Given the description of an element on the screen output the (x, y) to click on. 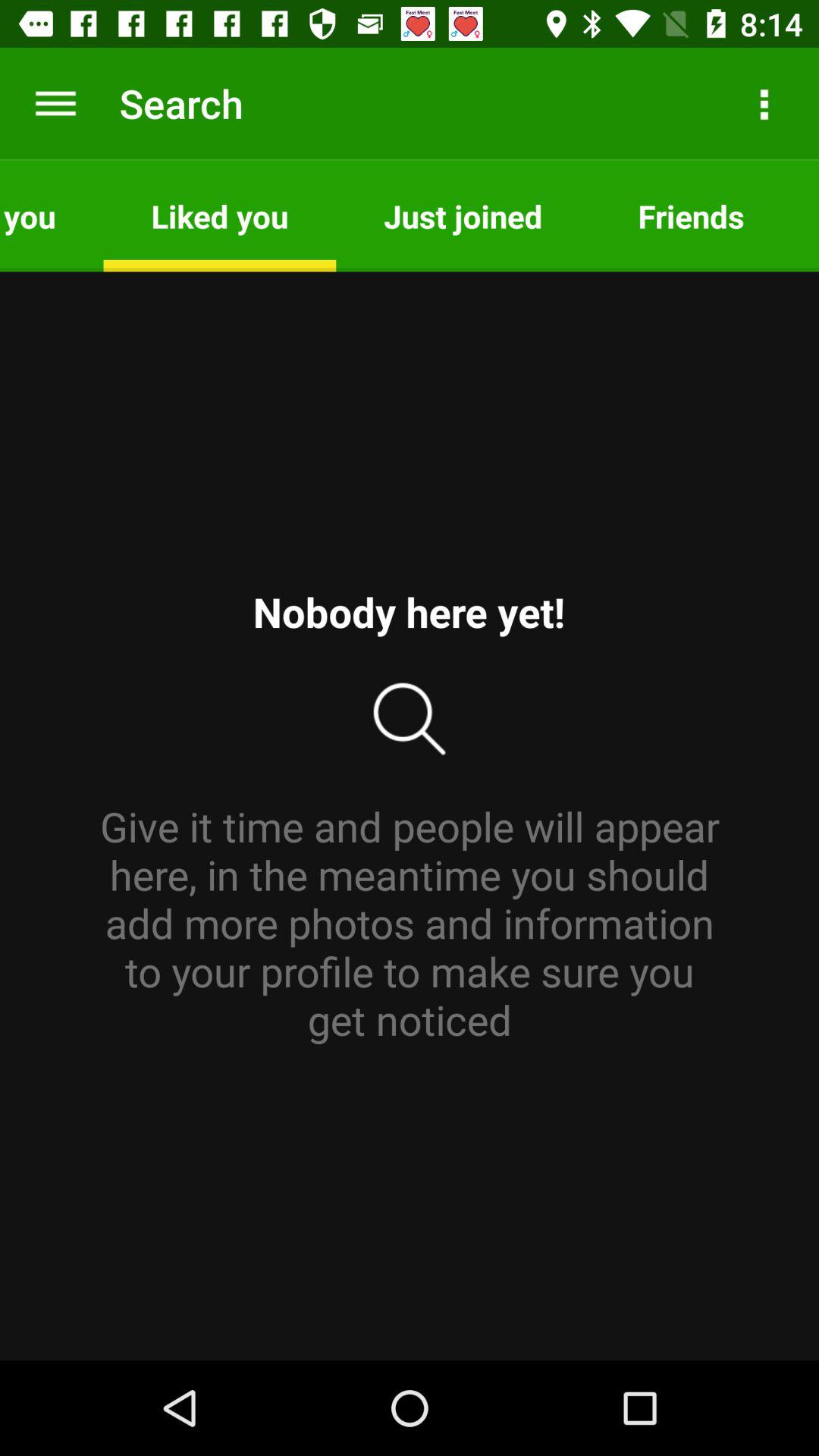
select item to the right of liked you item (463, 215)
